Given the description of an element on the screen output the (x, y) to click on. 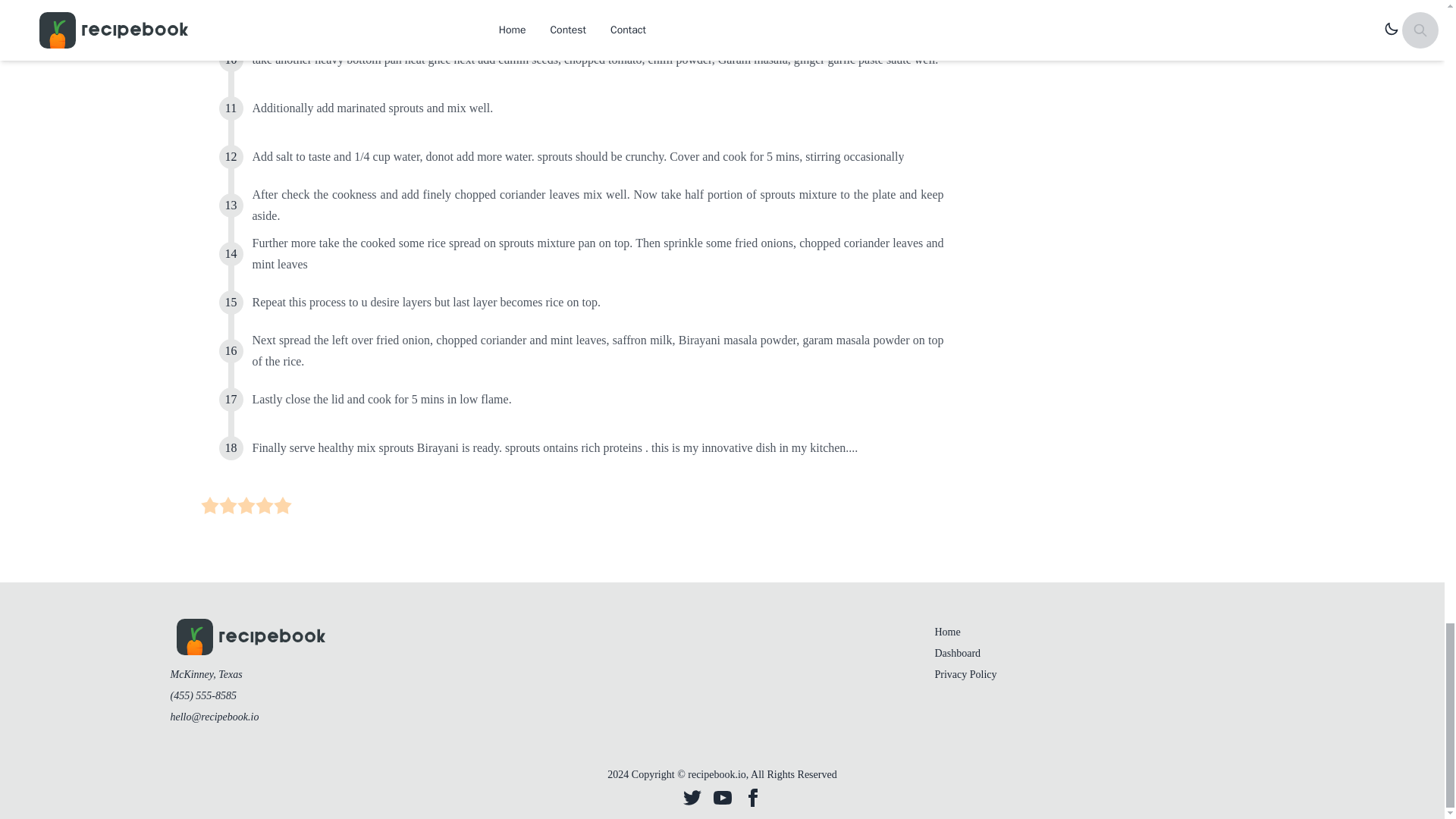
Dashboard (956, 653)
Home (946, 631)
Privacy Policy (964, 674)
